Given the description of an element on the screen output the (x, y) to click on. 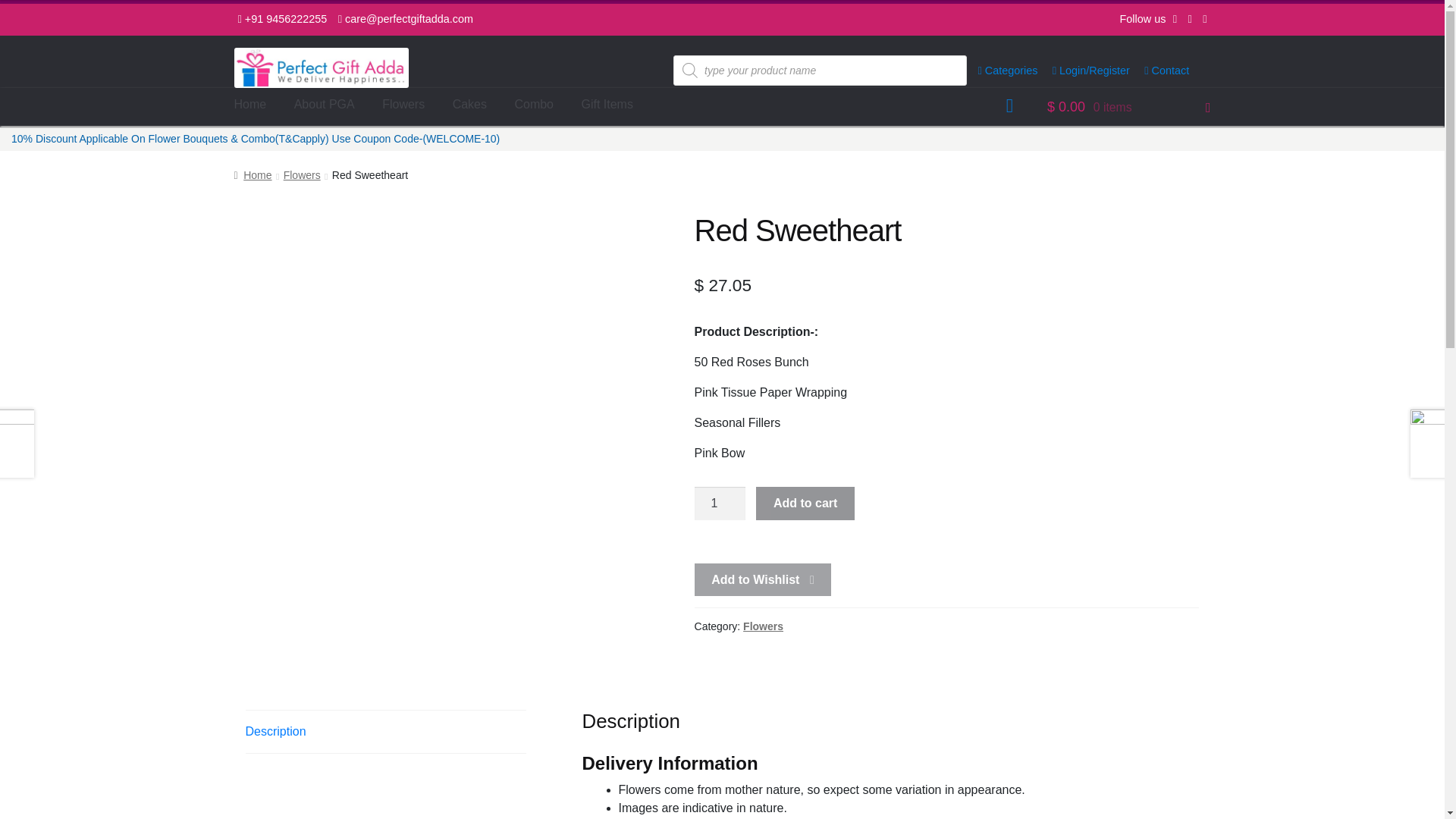
Home (250, 104)
View your shopping cart (1128, 106)
Flowers (402, 104)
Contact (1160, 70)
About PGA (324, 104)
Flowers (762, 625)
Add to Wishlist (762, 580)
Add to cart (804, 503)
Home (253, 174)
Cakes (470, 104)
Gift Items (607, 104)
Description (385, 731)
Categories (1001, 70)
Flowers (301, 174)
